Given the description of an element on the screen output the (x, y) to click on. 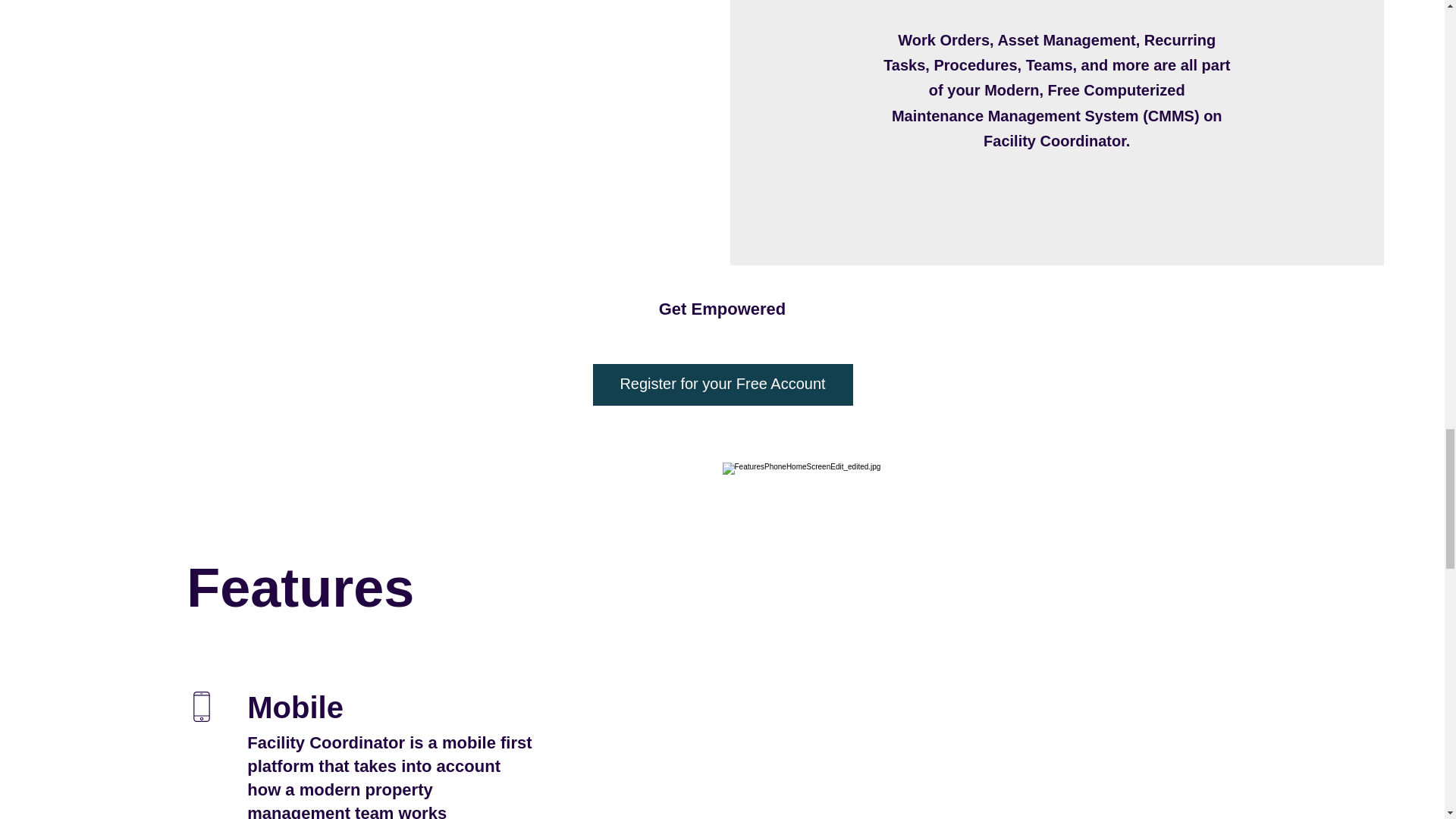
Register for your Free Account (722, 384)
